Given the description of an element on the screen output the (x, y) to click on. 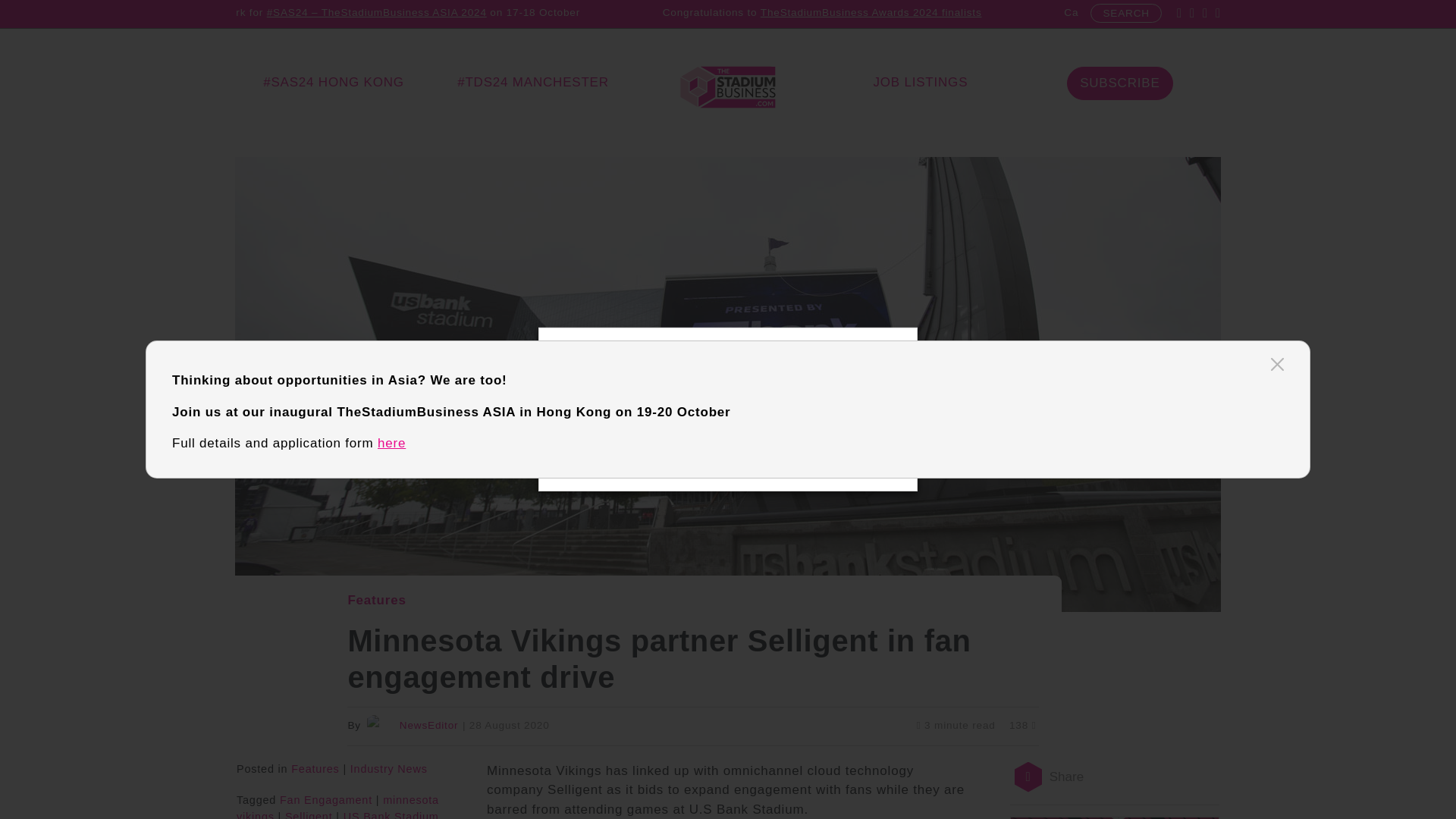
Job Listings (920, 82)
Subscribe (1119, 82)
